Given the description of an element on the screen output the (x, y) to click on. 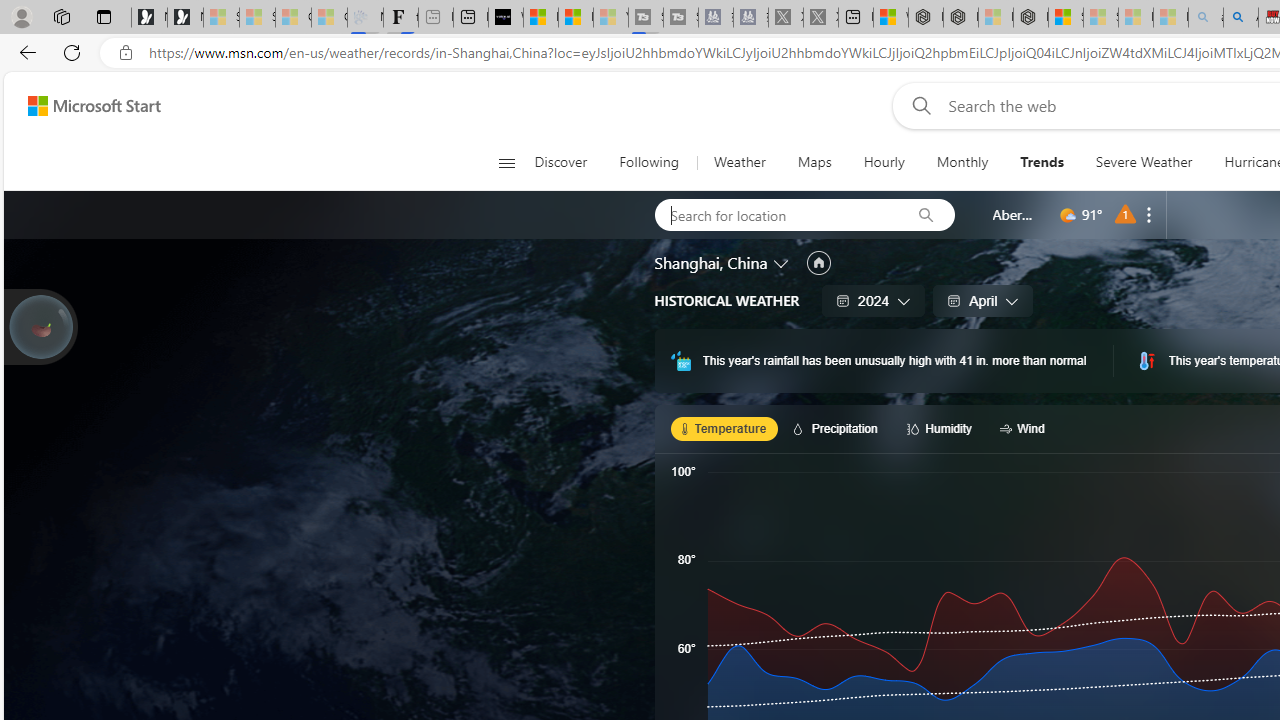
Monthly (962, 162)
Maps (814, 162)
Web search (917, 105)
Open navigation menu (506, 162)
Skip to footer (82, 105)
Trends (1041, 162)
